Given the description of an element on the screen output the (x, y) to click on. 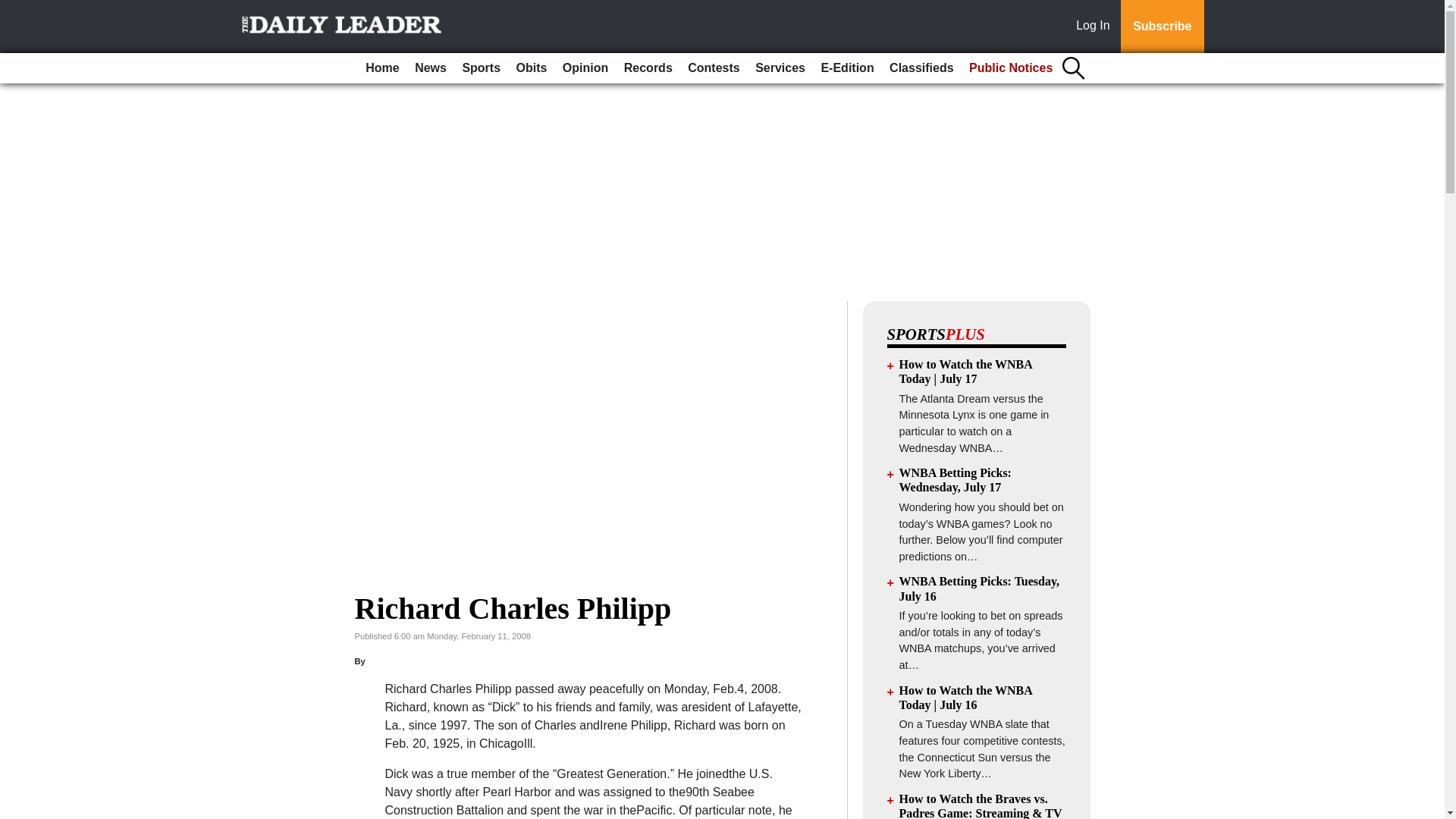
Public Notices (1010, 68)
News (430, 68)
Records (647, 68)
Log In (1095, 26)
Classifieds (921, 68)
Sports (480, 68)
Obits (532, 68)
Contests (713, 68)
Home (381, 68)
Opinion (585, 68)
E-Edition (846, 68)
Services (779, 68)
WNBA Betting Picks: Wednesday, July 17 (955, 479)
WNBA Betting Picks: Tuesday, July 16 (979, 587)
Subscribe (1162, 26)
